Given the description of an element on the screen output the (x, y) to click on. 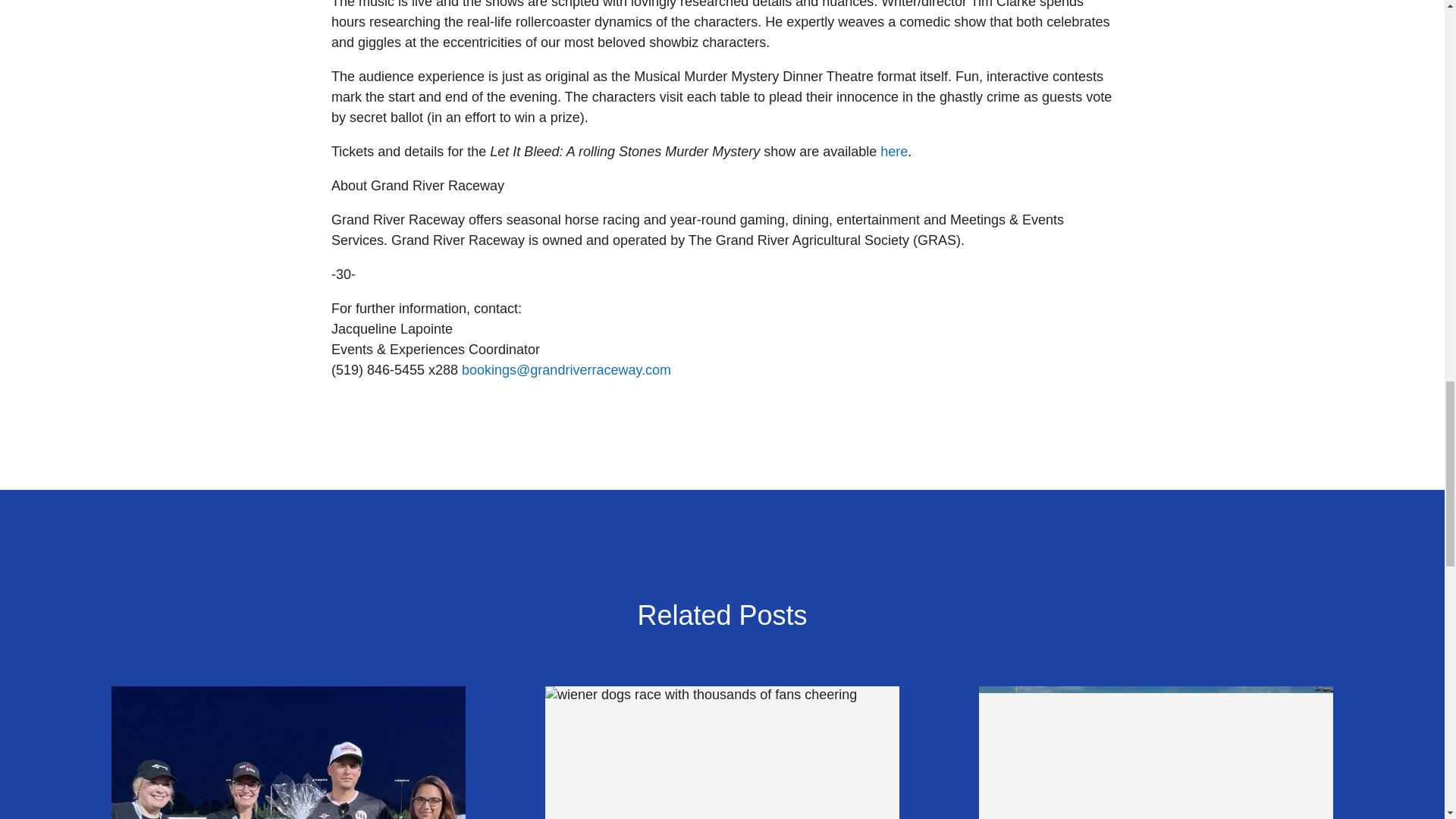
here (893, 151)
